Given the description of an element on the screen output the (x, y) to click on. 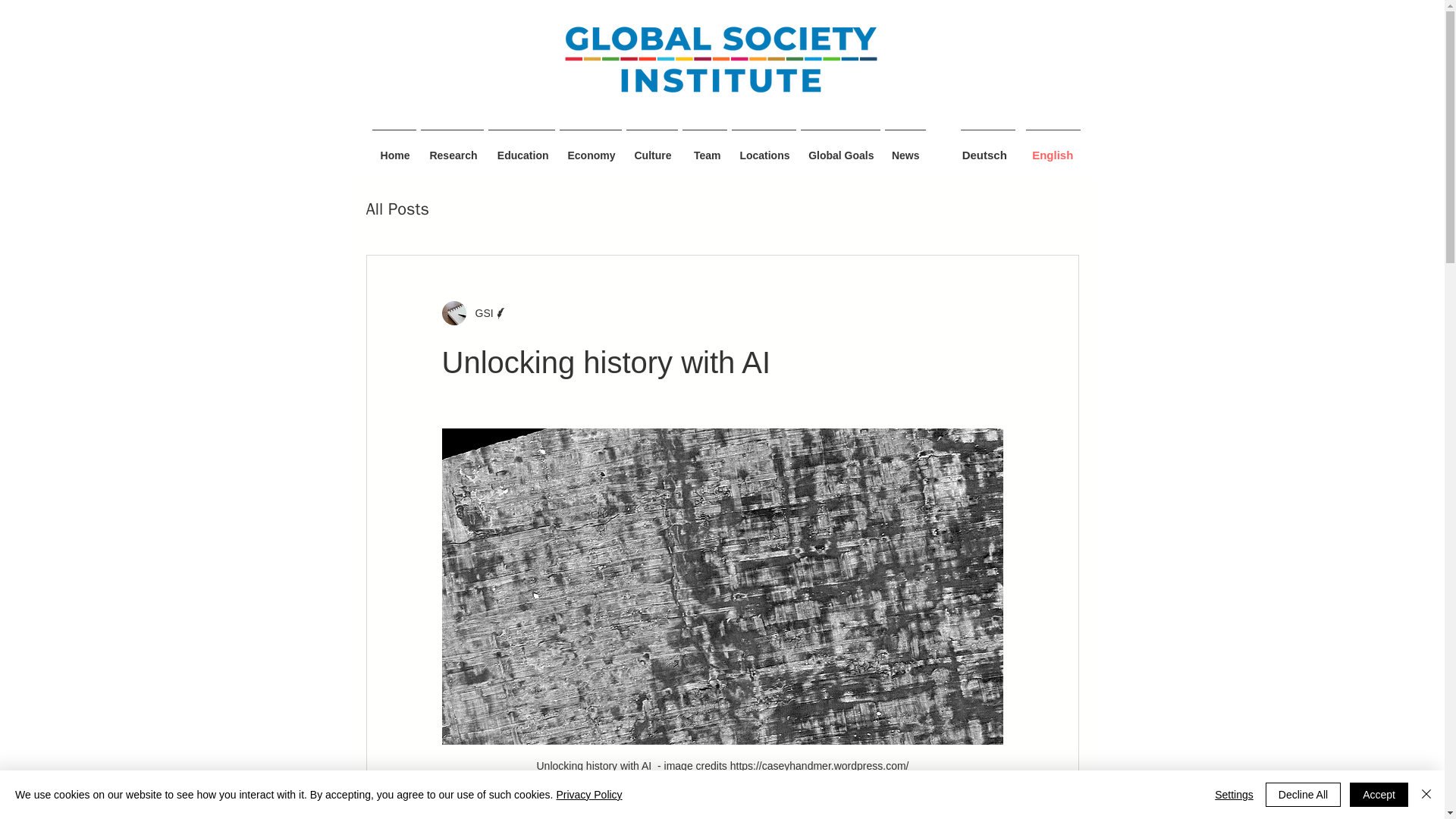
Team (704, 148)
Economy (589, 148)
Captura de pantalla 2023-03-24 a las 9.4 (719, 57)
Accept (1378, 794)
Decline All (1302, 794)
All Posts (397, 209)
Global Goals (839, 148)
Deutsch (984, 154)
English (1052, 154)
Locations (763, 148)
GSI (479, 312)
Culture (651, 148)
Home (394, 148)
Education (520, 148)
News (905, 148)
